Given the description of an element on the screen output the (x, y) to click on. 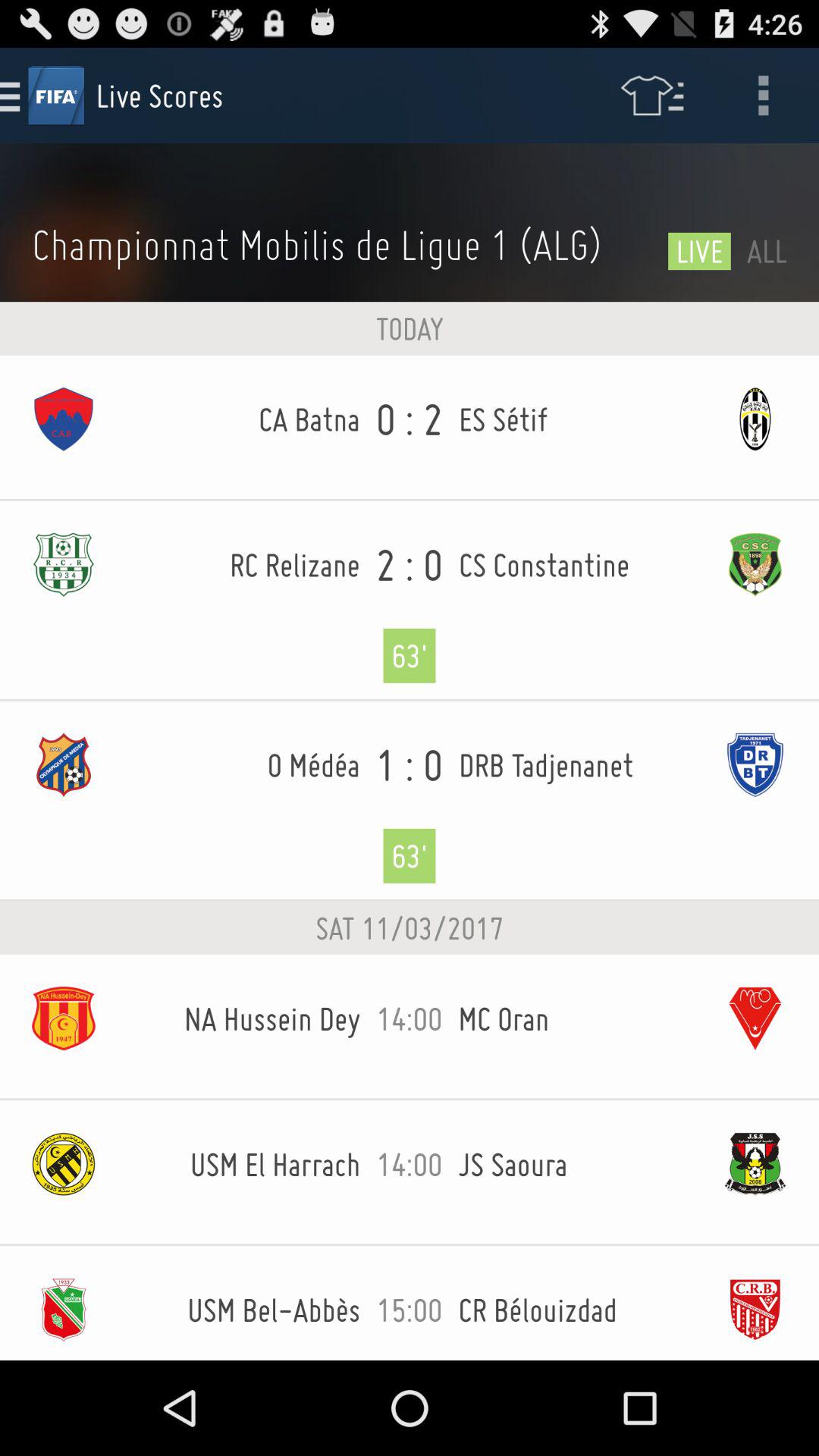
scroll until drb tadjenanet item (574, 764)
